Given the description of an element on the screen output the (x, y) to click on. 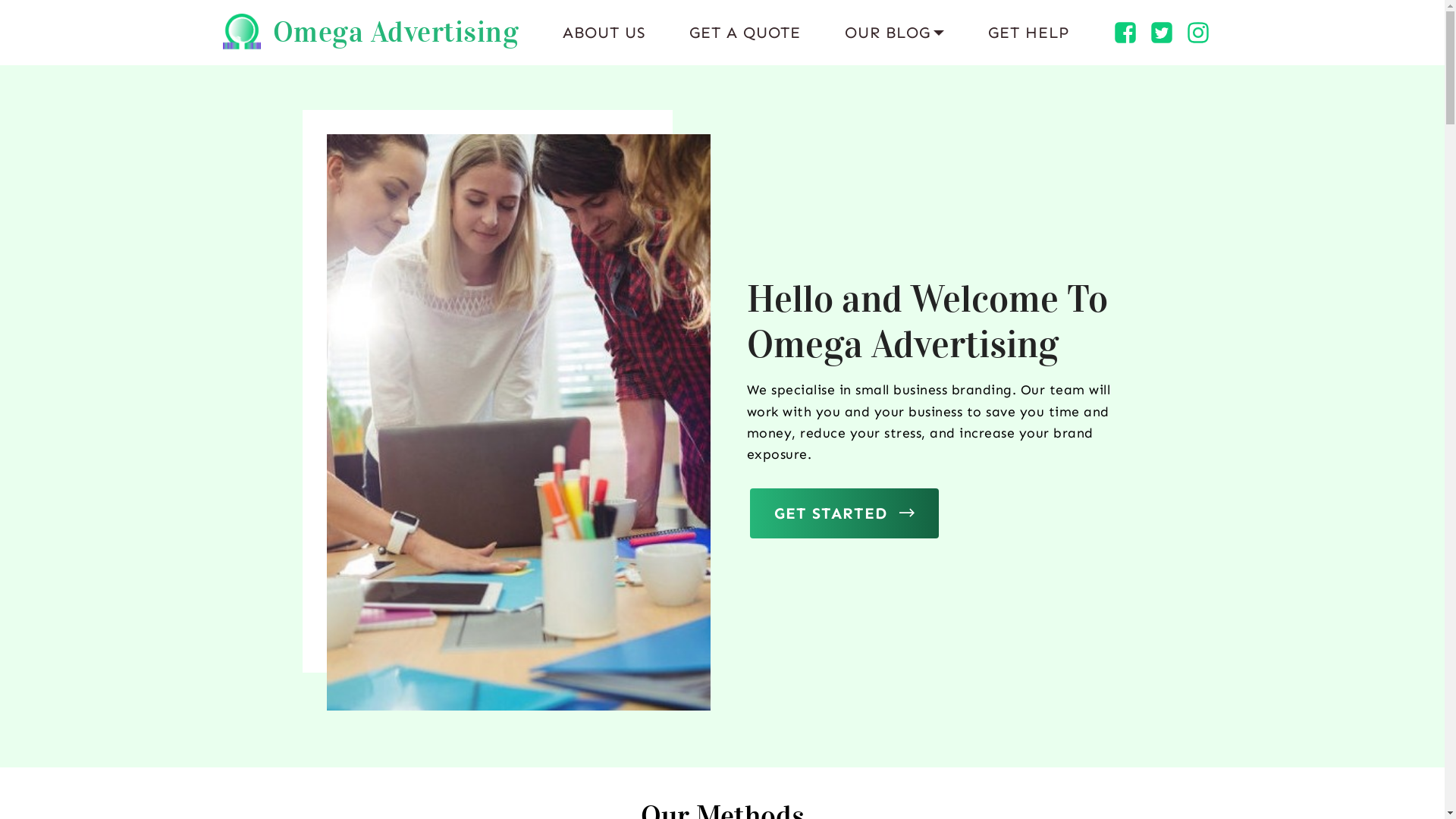
Omega Advertising Element type: text (396, 31)
ABOUT US Element type: text (604, 31)
GET STARTED Element type: text (843, 513)
GET A QUOTE Element type: text (744, 31)
OUR BLOG Element type: text (894, 31)
GET HELP Element type: text (1028, 31)
